Given the description of an element on the screen output the (x, y) to click on. 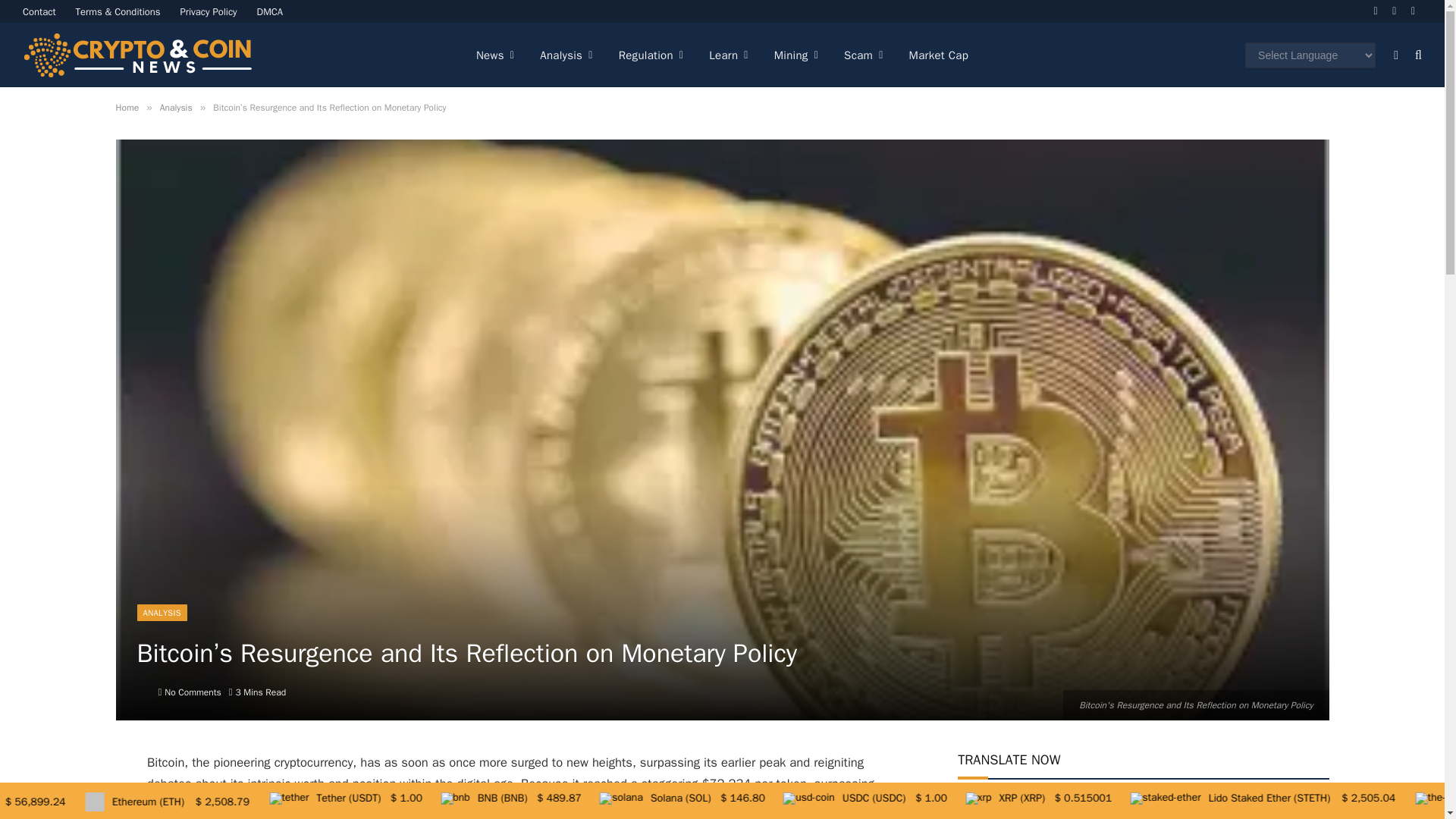
Crypto and Coin (137, 54)
News (495, 54)
Analysis (566, 54)
DMCA (270, 11)
Contact (39, 11)
Privacy Policy (208, 11)
